Given the description of an element on the screen output the (x, y) to click on. 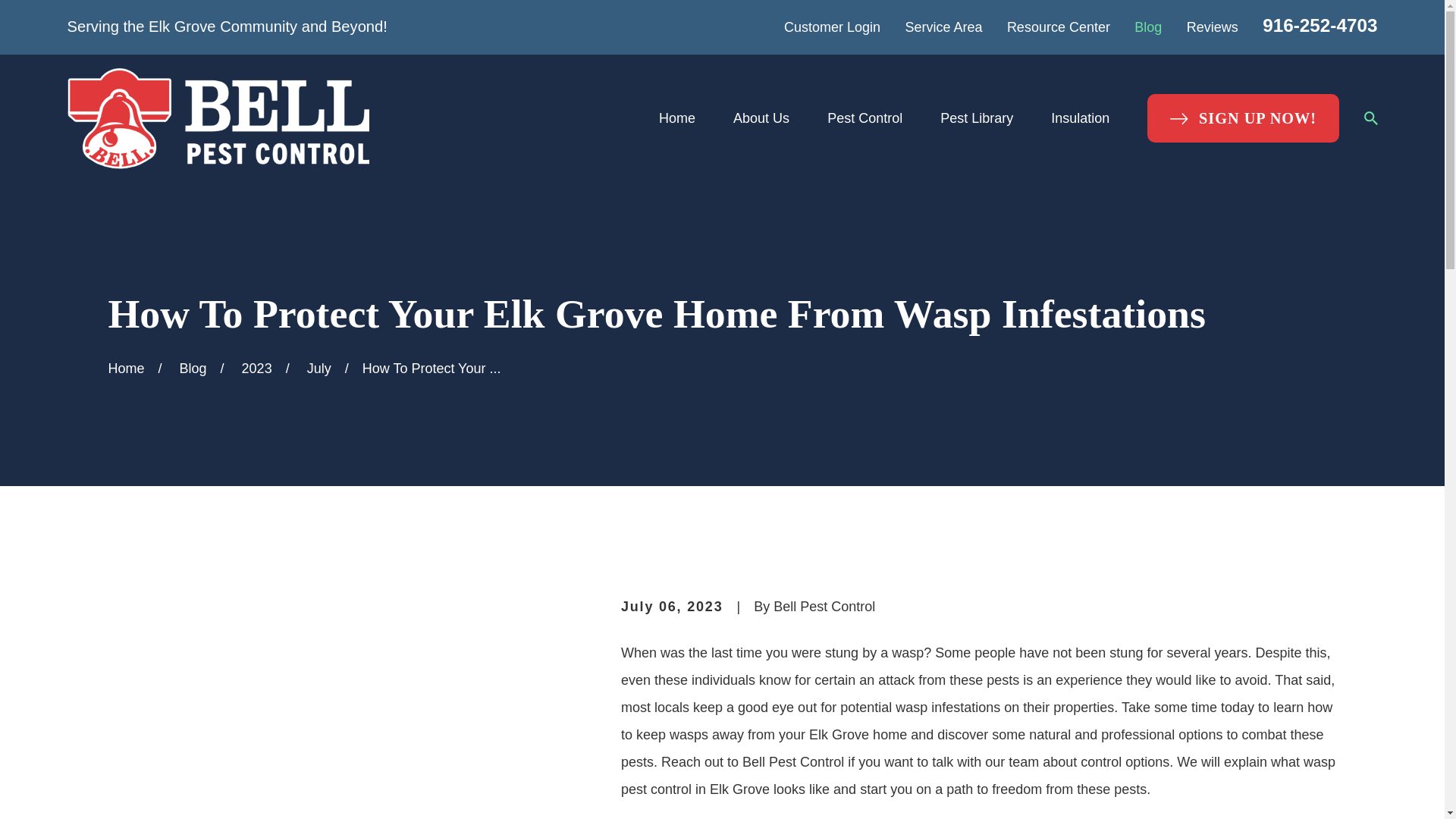
Home (217, 117)
Pest Library (976, 118)
Go Home (125, 368)
Resource Center (1058, 27)
Blog (1147, 27)
916-252-4703 (1319, 25)
Service Area (942, 27)
Customer Login (832, 27)
About Us (761, 118)
Reviews (1212, 27)
